Given the description of an element on the screen output the (x, y) to click on. 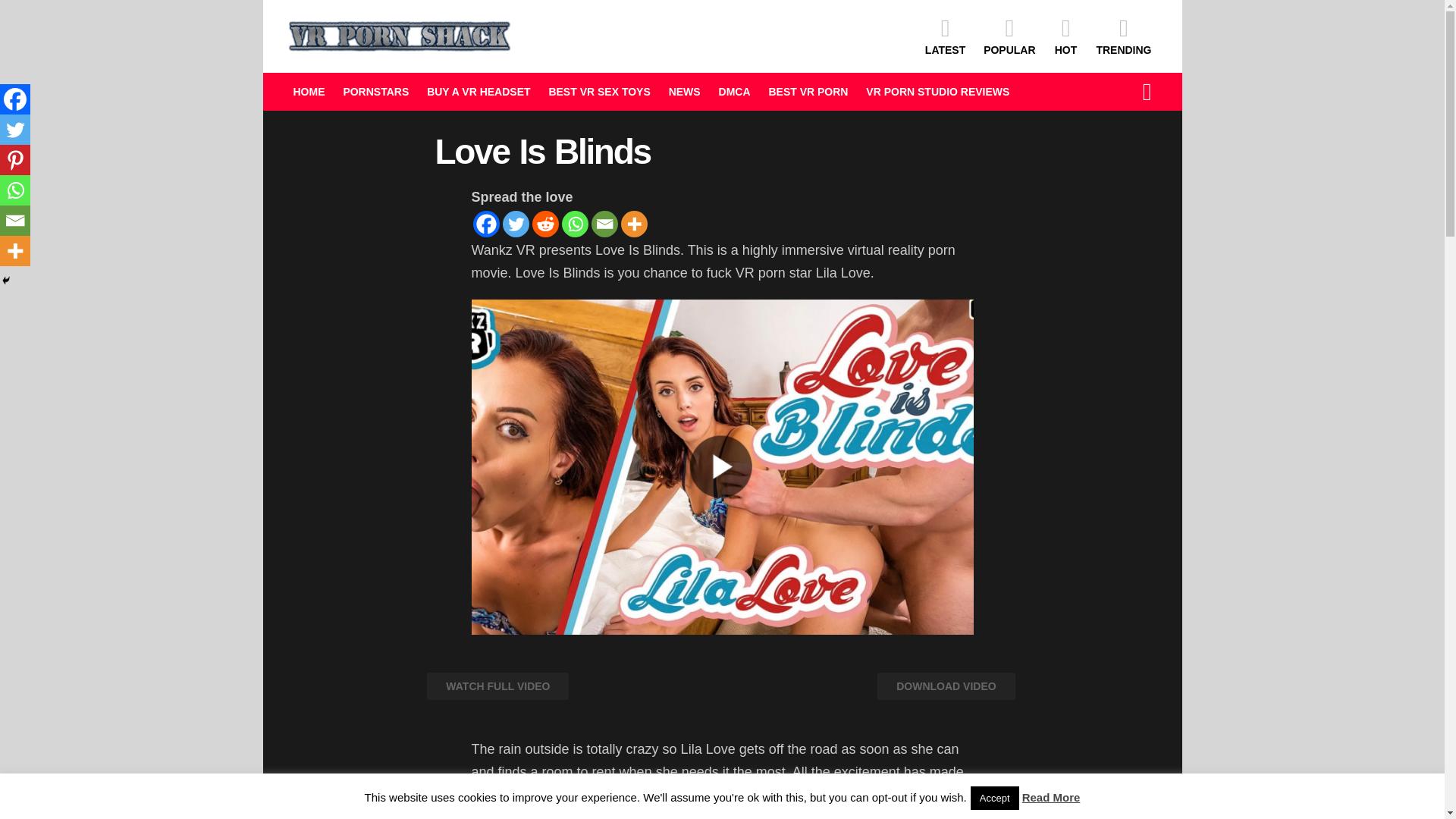
Email (604, 223)
Reddit (545, 223)
Facebook (486, 223)
HOME (308, 91)
Twitter (515, 223)
PORNSTARS (375, 91)
BUY A VR HEADSET (478, 91)
Facebook (15, 99)
POPULAR (1008, 35)
TRENDING (1122, 35)
WATCH FULL VIDEO (497, 696)
Pinterest (15, 159)
LATEST (944, 35)
BEST VR PORN (808, 91)
DOWNLOAD VIDEO (945, 686)
